Given the description of an element on the screen output the (x, y) to click on. 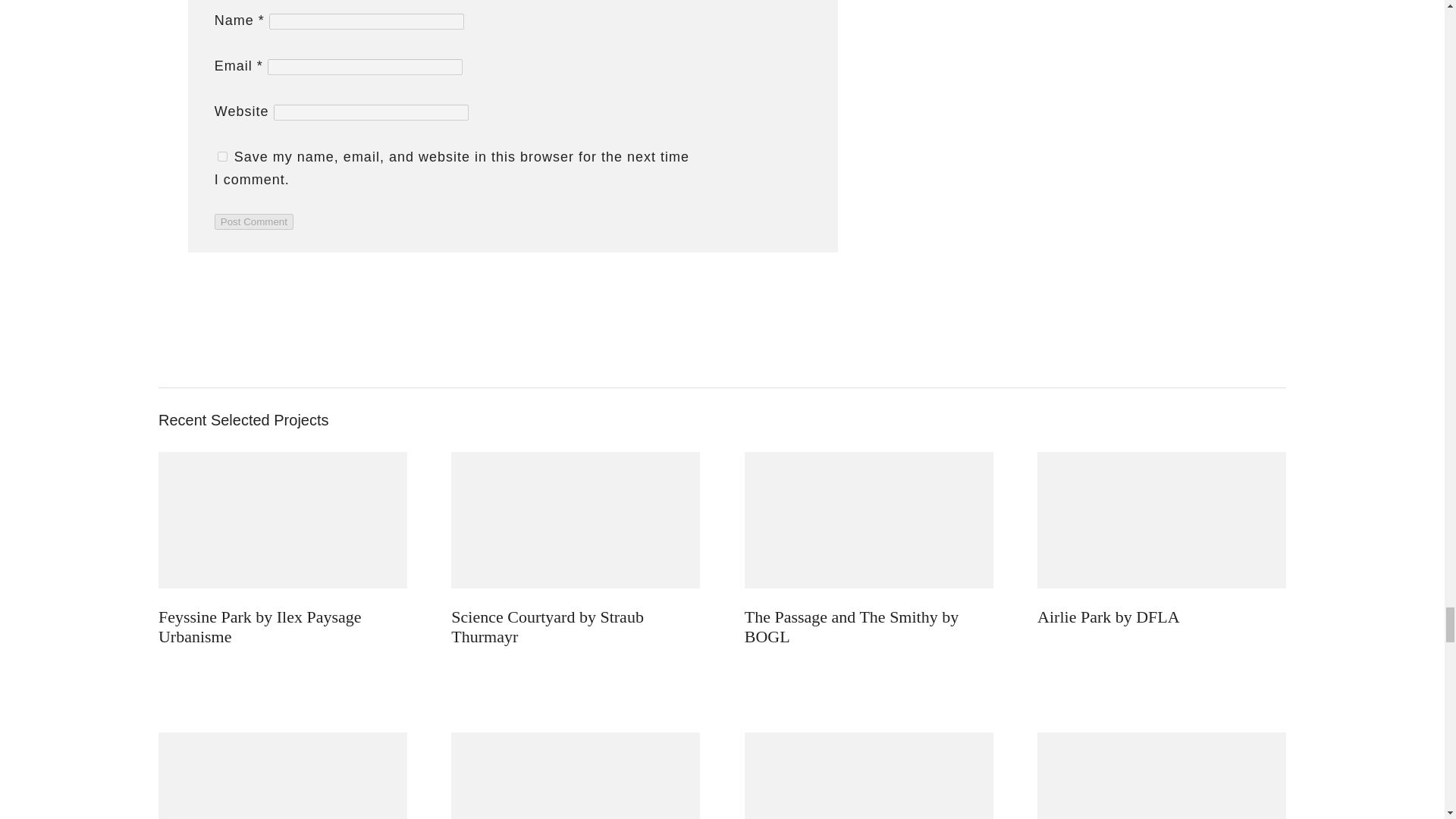
Post Comment (254, 221)
Post Comment (254, 221)
yes (221, 156)
